Given the description of an element on the screen output the (x, y) to click on. 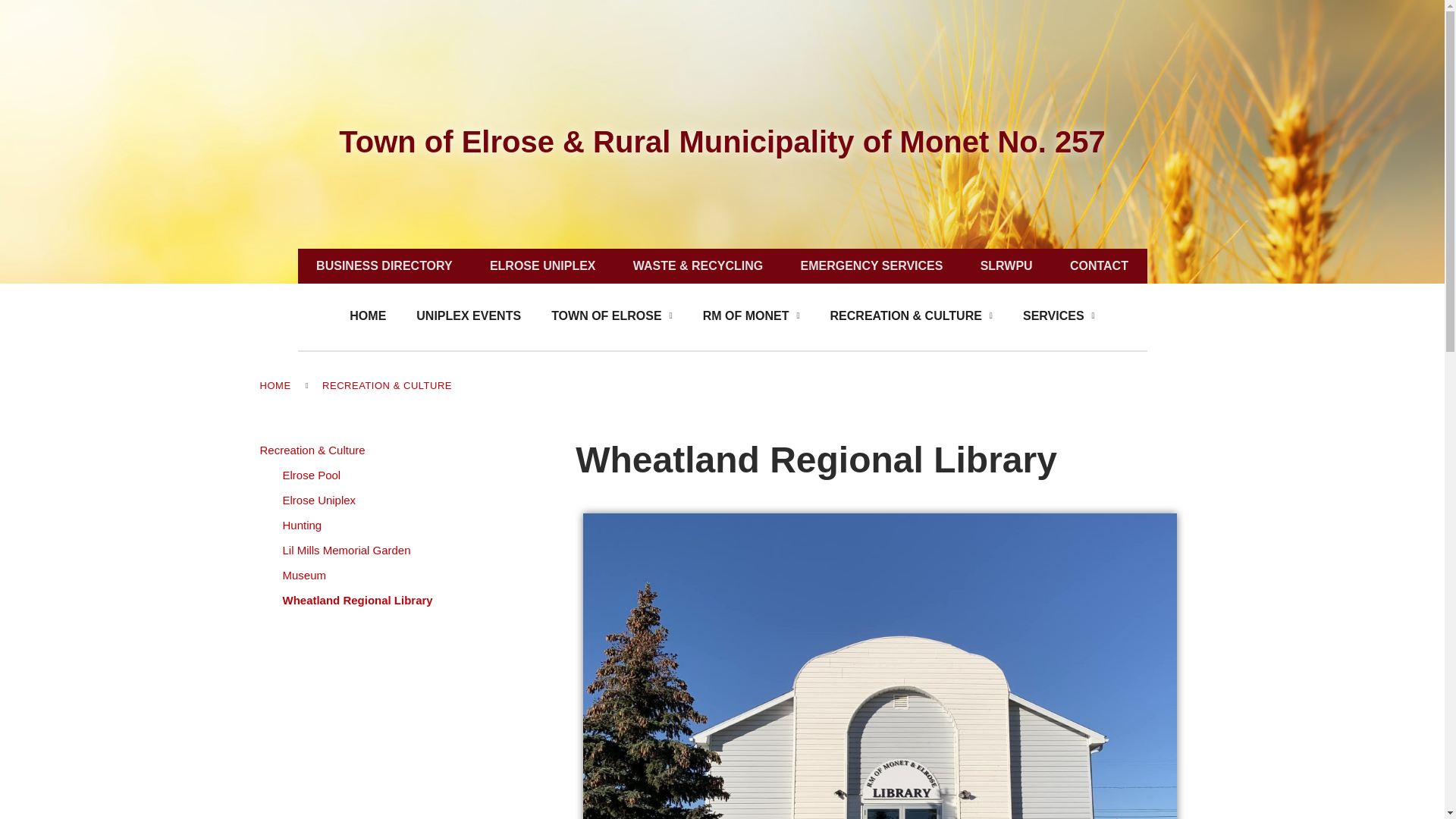
TOWN OF ELROSE (611, 315)
SLRWPU (1005, 265)
ELROSE UNIPLEX (542, 265)
CONTACT (1099, 265)
BUSINESS DIRECTORY (383, 265)
UNIPLEX EVENTS (468, 315)
EMERGENCY SERVICES (870, 265)
HOME (367, 315)
